Given the description of an element on the screen output the (x, y) to click on. 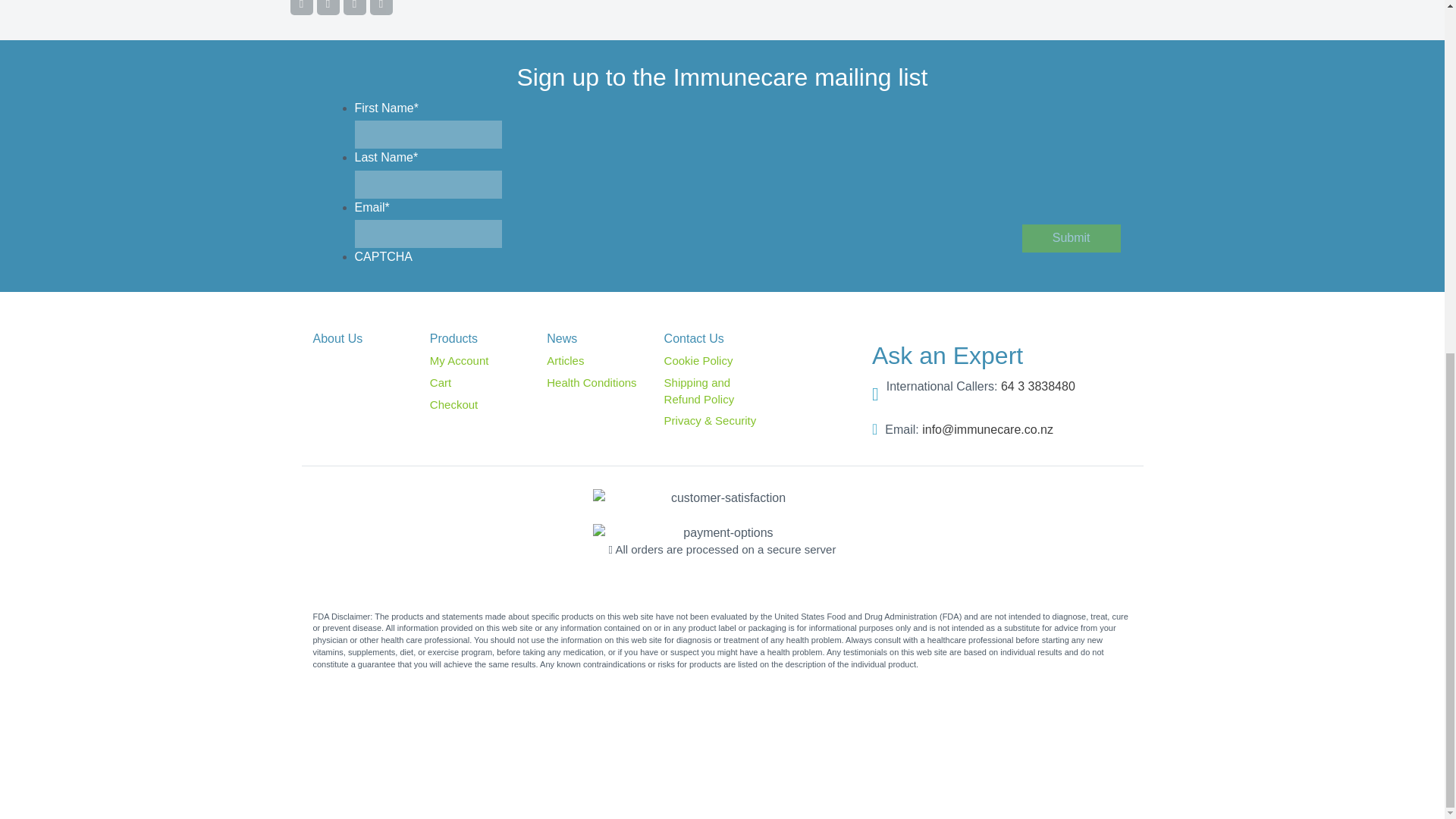
Twitter (328, 4)
Facebook (301, 4)
Submit (1071, 238)
E-Mail (381, 4)
Google Plus (353, 4)
